Given the description of an element on the screen output the (x, y) to click on. 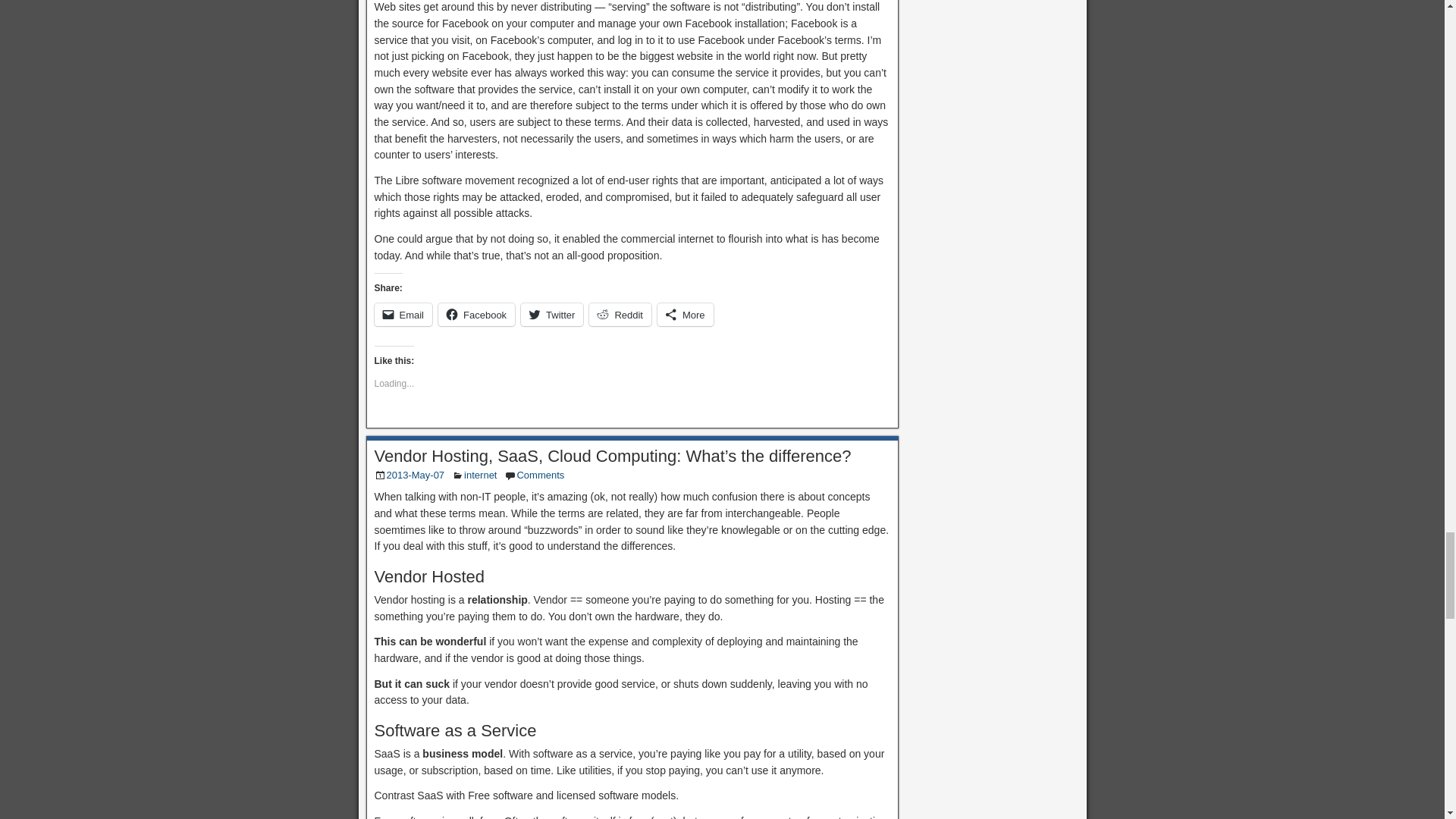
Click to share on Twitter (552, 314)
Click to email a link to a friend (403, 314)
Click to share on Facebook (476, 314)
Click to share on Reddit (619, 314)
